Given the description of an element on the screen output the (x, y) to click on. 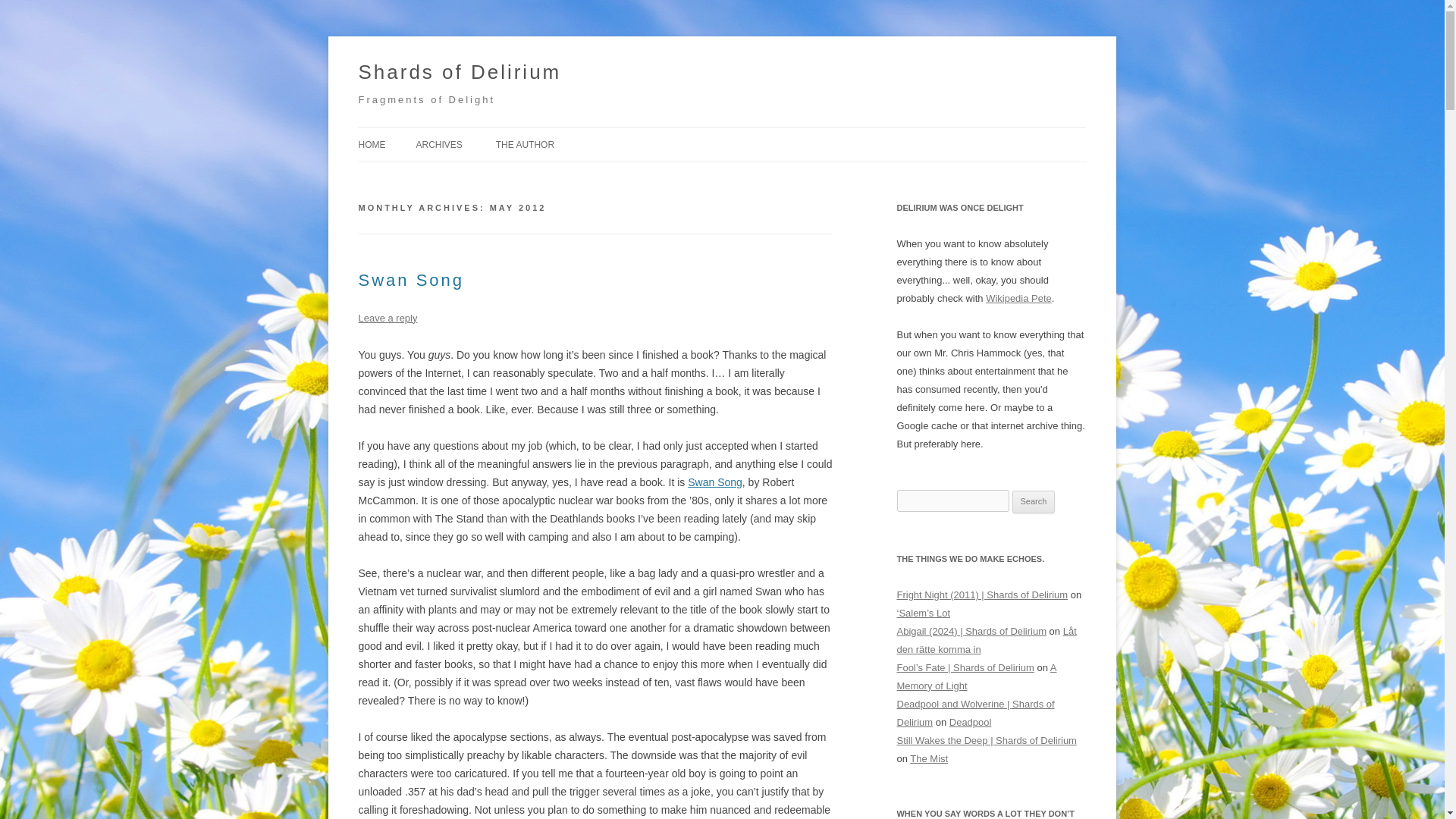
Search (1033, 501)
Leave a reply (387, 317)
Shards of Delirium (459, 72)
THE AUTHOR (525, 144)
Search (1033, 501)
ARCHIVES (437, 144)
Wikipedia Pete (1018, 297)
A Memory of Light (976, 676)
Swan Song (714, 481)
Swan Song (411, 280)
